Given the description of an element on the screen output the (x, y) to click on. 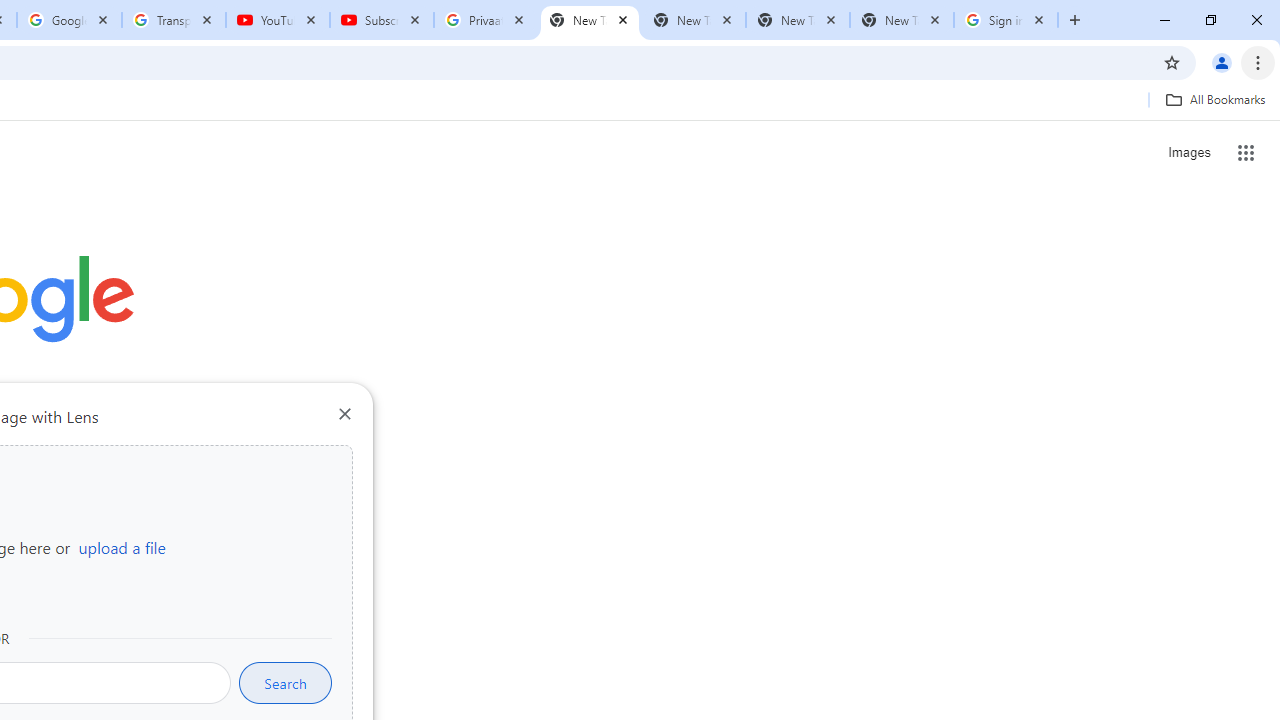
Sign in (875, 32)
